Given the description of an element on the screen output the (x, y) to click on. 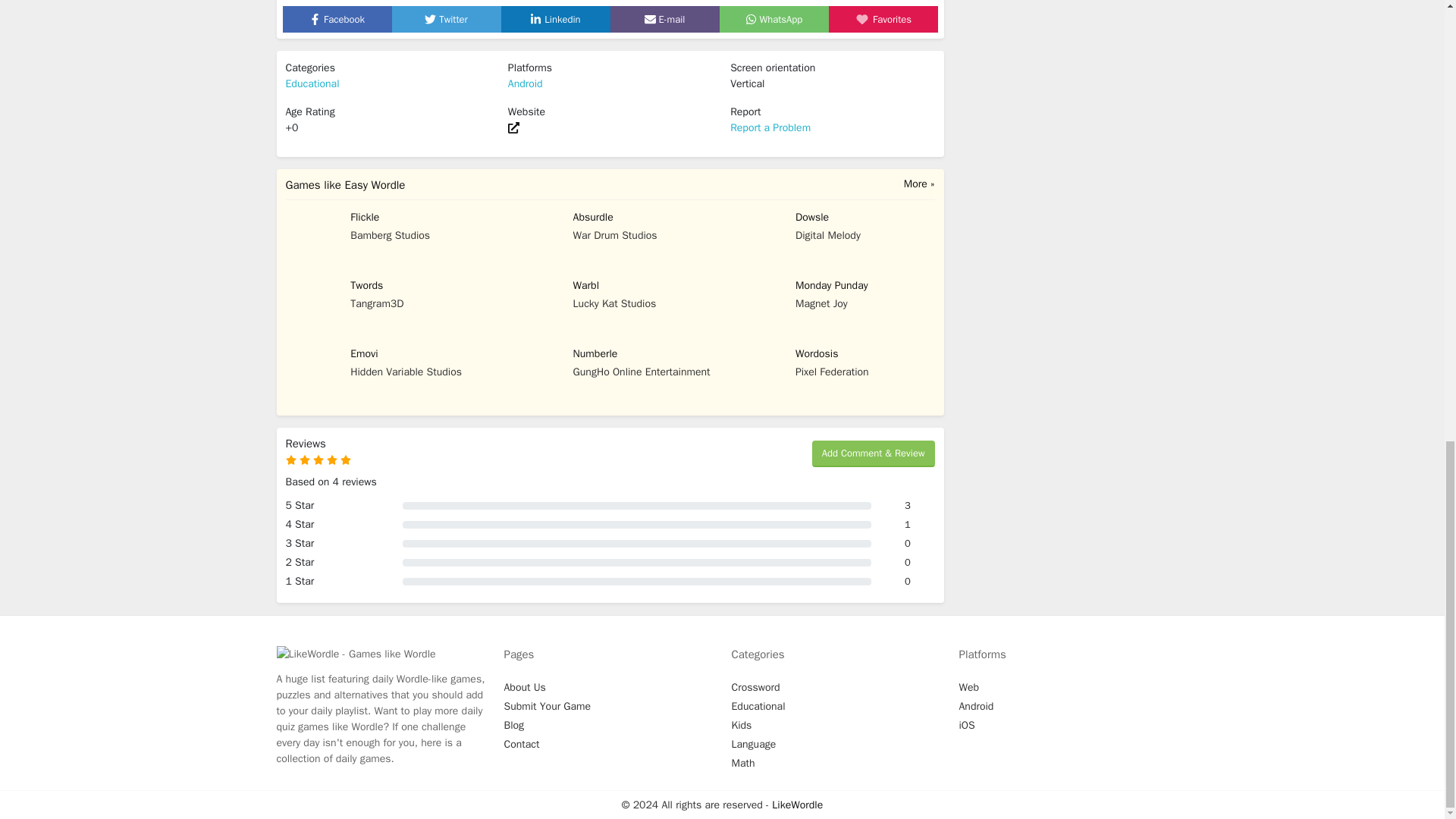
Facebook (336, 18)
Linkedin (554, 18)
E-mail (665, 18)
Report a Problem (770, 127)
Android (525, 83)
WhatsApp (774, 18)
Twitter (446, 18)
Educational (312, 83)
